Given the description of an element on the screen output the (x, y) to click on. 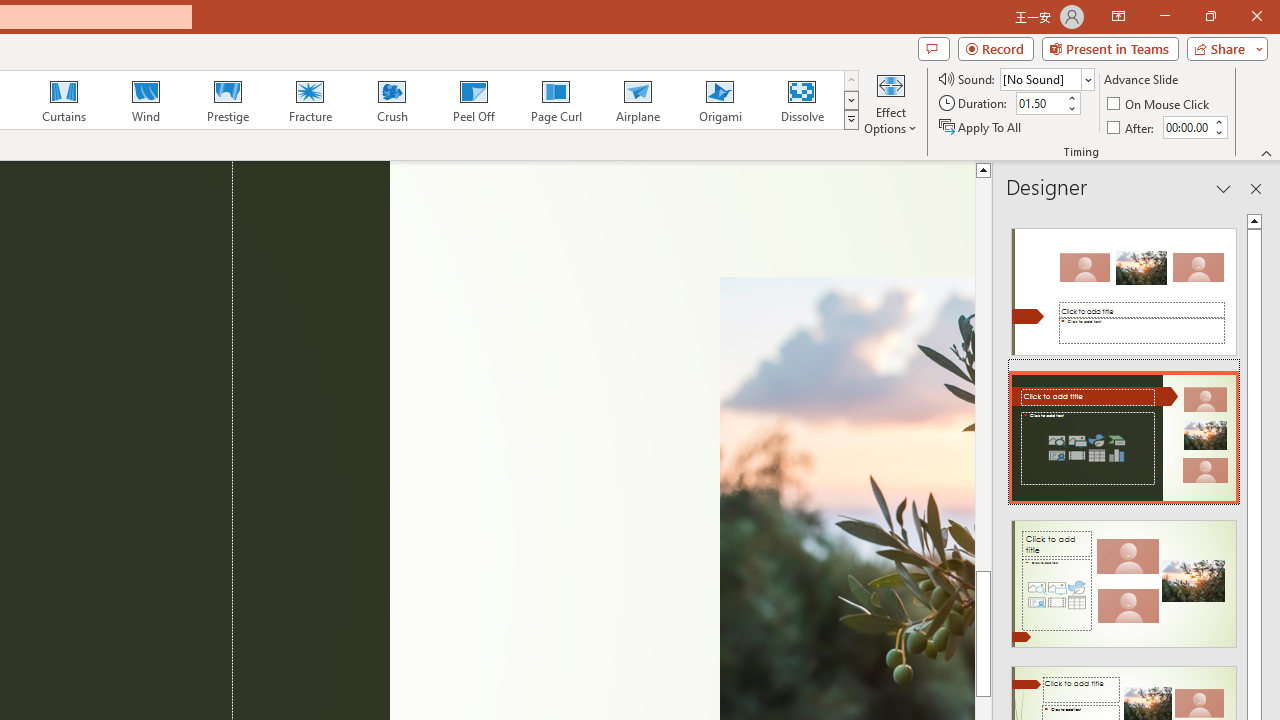
Peel Off (473, 100)
Page up (983, 408)
Wind (145, 100)
Crush (391, 100)
Row up (850, 79)
Close pane (1256, 188)
